Given the description of an element on the screen output the (x, y) to click on. 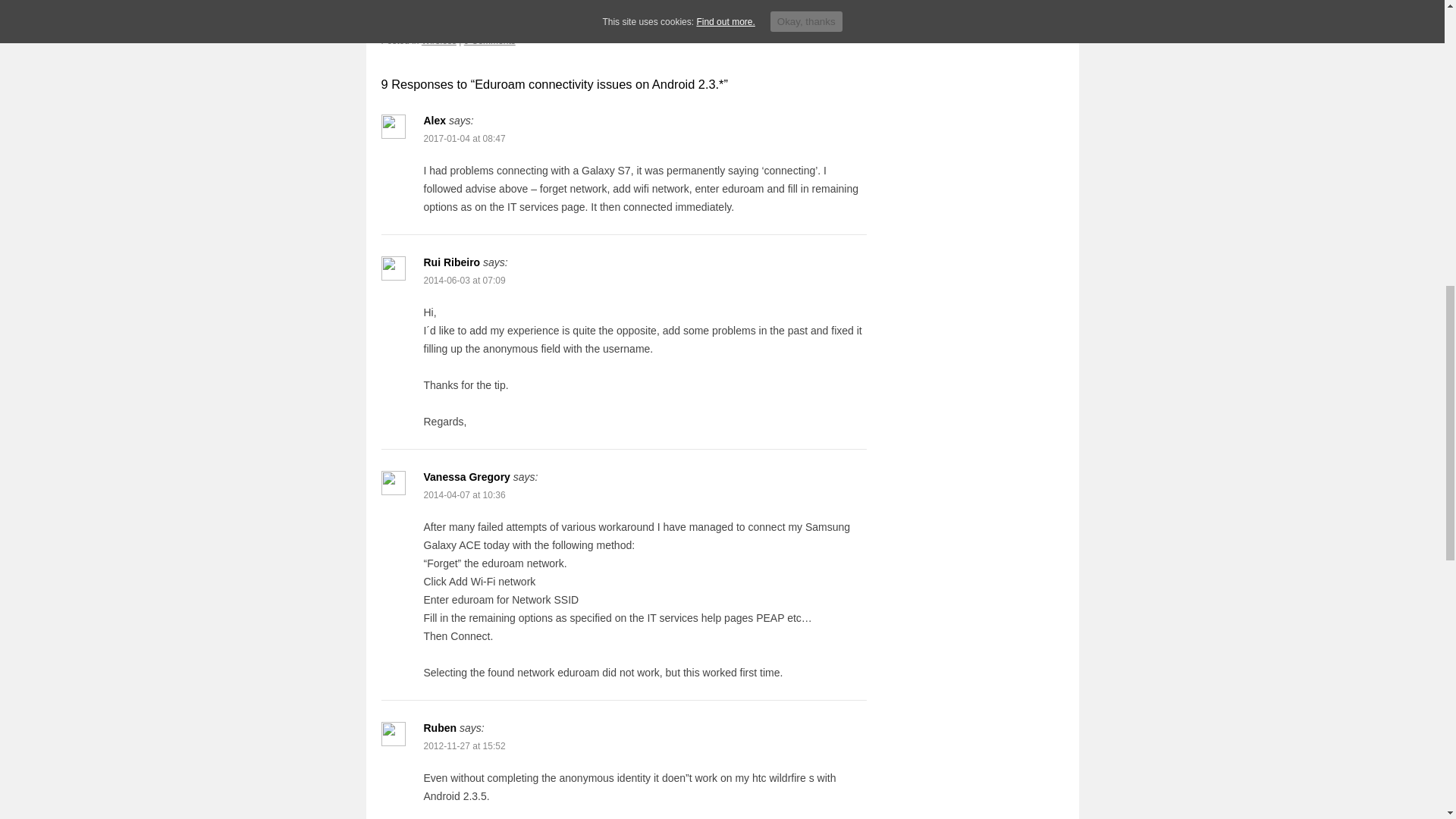
Wireless (439, 40)
9 Comments (489, 40)
2014-06-03 at 07:09 (464, 280)
page (568, 7)
2017-01-04 at 08:47 (464, 138)
2012-11-27 at 15:52 (464, 746)
2014-04-07 at 10:36 (464, 494)
